Given the description of an element on the screen output the (x, y) to click on. 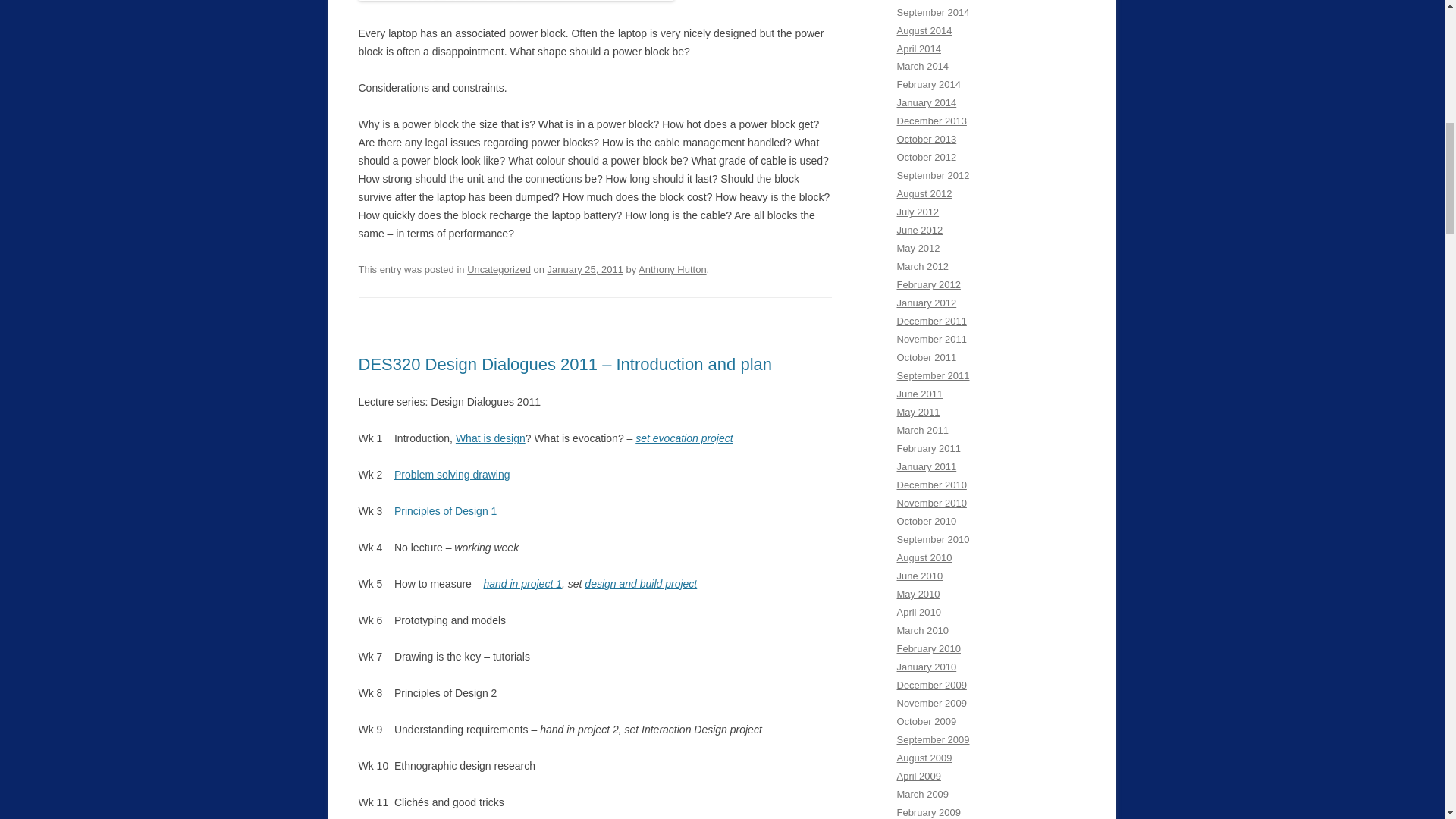
View all posts by Anthony Hutton (672, 269)
Uncategorized (499, 269)
January 25, 2011 (585, 269)
Anthony Hutton (672, 269)
set evocation project (683, 438)
design and build project (641, 583)
Principles of Design 1 (445, 510)
What is design (490, 438)
1:35 pm (585, 269)
